Given the description of an element on the screen output the (x, y) to click on. 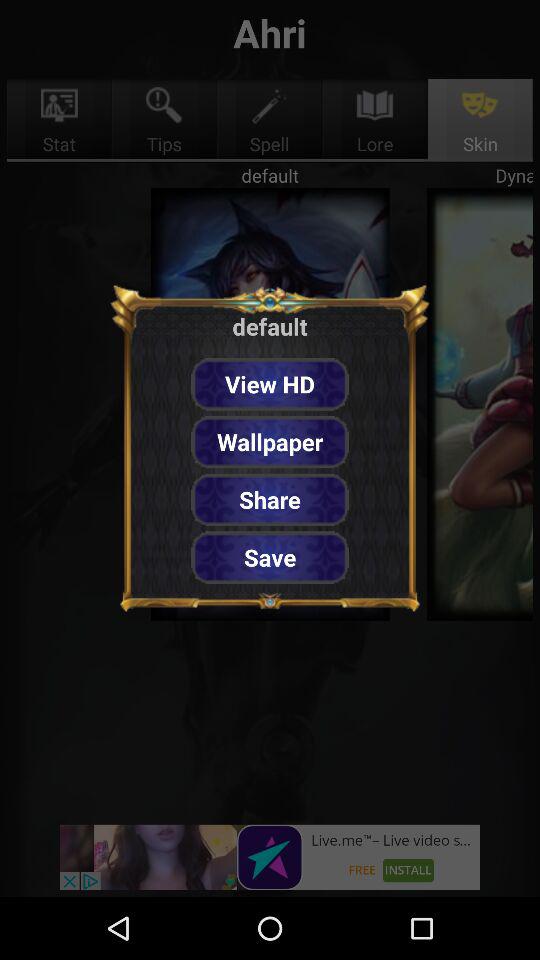
open icon below the share icon (269, 557)
